Given the description of an element on the screen output the (x, y) to click on. 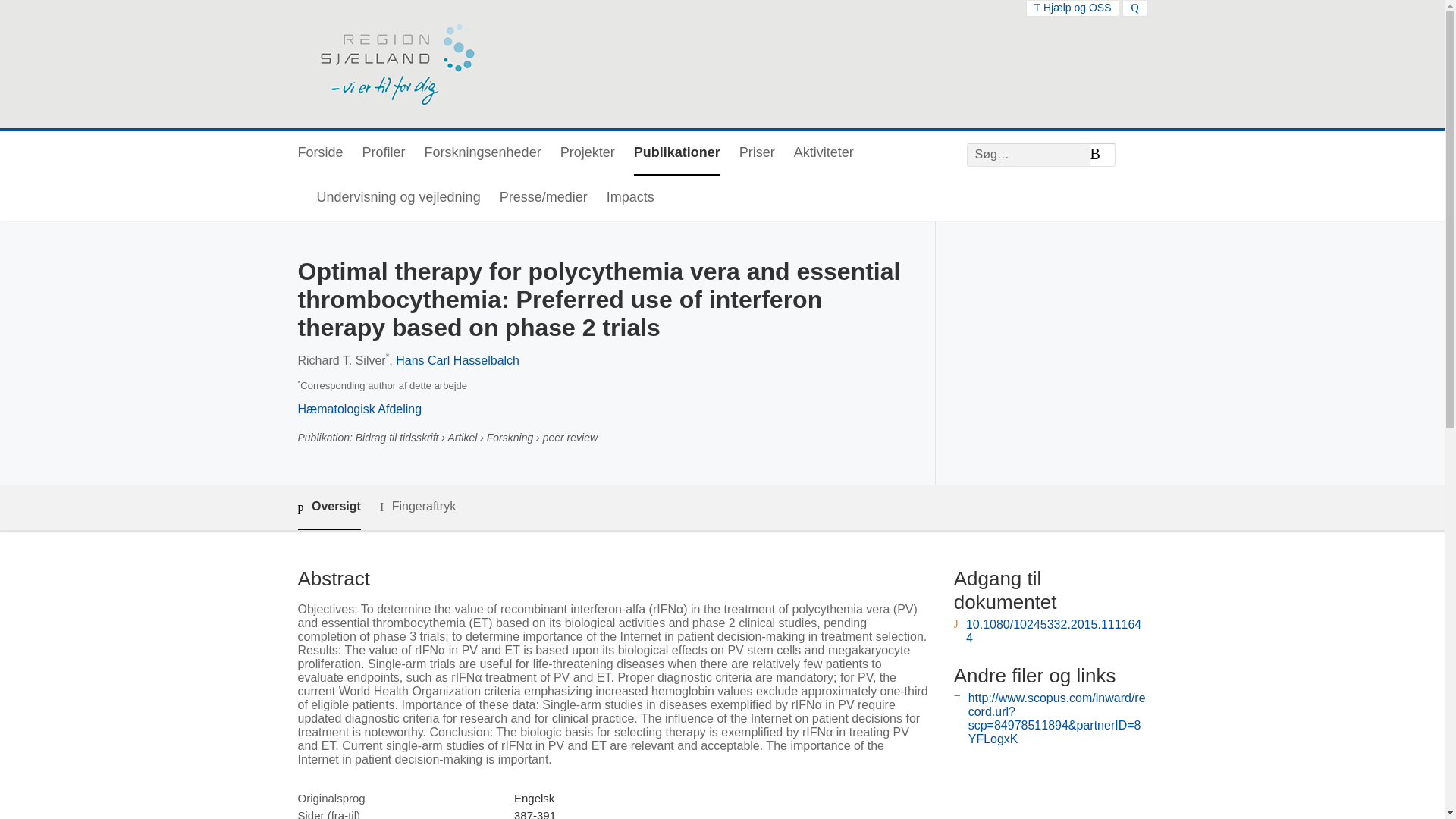
Profiler (384, 153)
Impacts (630, 198)
Hans Carl Hasselbalch (457, 359)
Fingeraftryk (417, 506)
Oversigt (328, 507)
Aktiviteter (823, 153)
Forside (319, 153)
Publikationer (676, 153)
Forskningsenheder (483, 153)
Projekter (587, 153)
Undervisning og vejledning (398, 198)
